Given the description of an element on the screen output the (x, y) to click on. 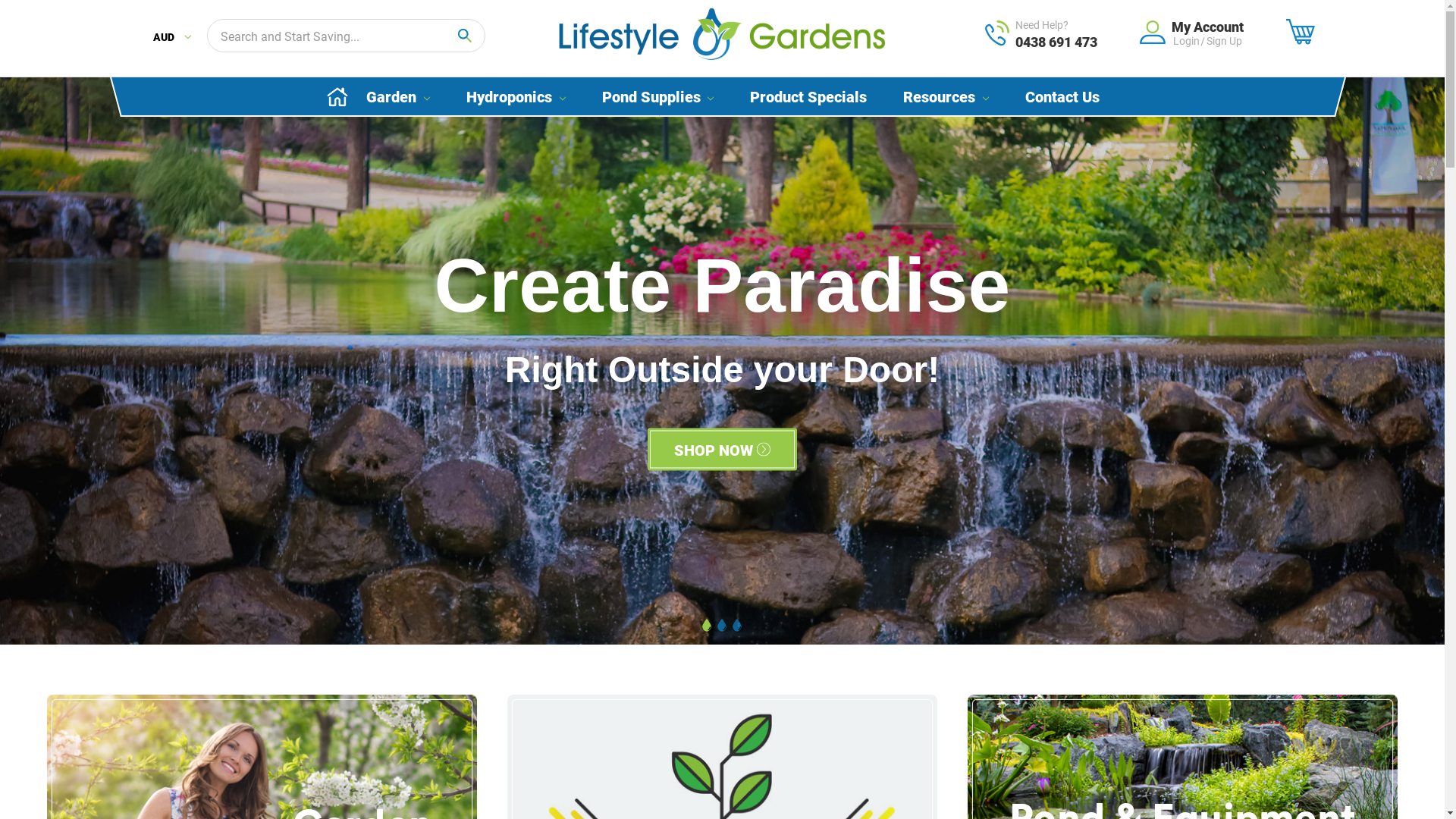
AUD Element type: text (171, 37)
Resources Element type: text (945, 96)
Pond Supplies Element type: text (657, 96)
Login Element type: text (1186, 40)
2 Element type: text (721, 625)
My Account Element type: text (1207, 26)
0438 691 473 Element type: text (1056, 42)
Contact Us Element type: text (1062, 96)
Create Paradise
Right Outside your Door!
SHOP NOW Element type: text (722, 363)
Lifestyle Gardens Element type: hover (721, 33)
Garden Element type: text (398, 96)
Our signature fixture that bends to your will Element type: hover (722, 360)
Sign Up Element type: text (1224, 40)
Hydroponics Element type: text (515, 96)
3 Element type: text (736, 625)
1 Element type: text (706, 625)
Product Specials Element type: text (807, 96)
